Given the description of an element on the screen output the (x, y) to click on. 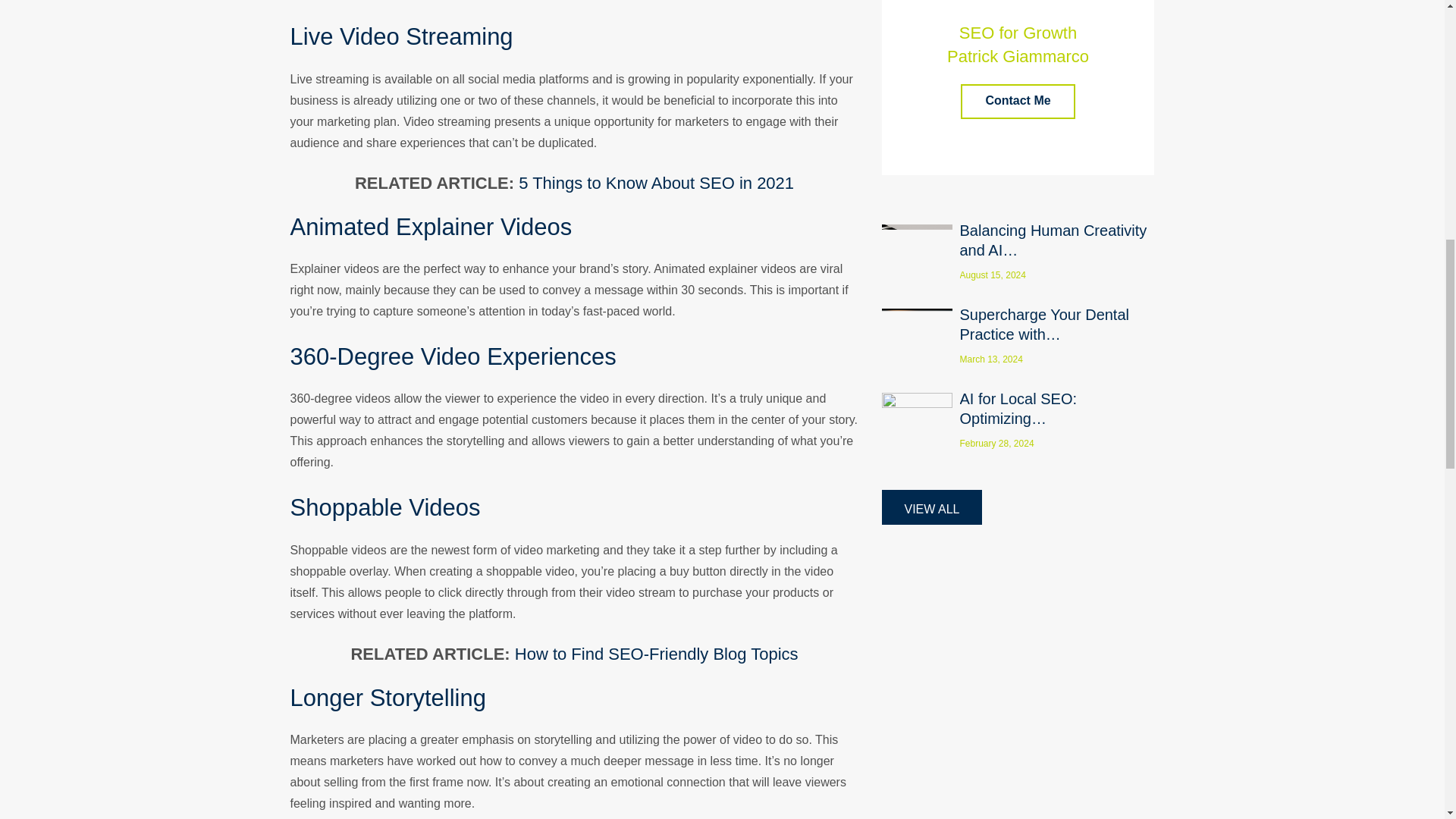
VIEW ALL (930, 506)
How to Find SEO-Friendly Blog Topics (656, 653)
Contact Me (1017, 101)
5 Things to Know About SEO in 2021 (655, 182)
